Given the description of an element on the screen output the (x, y) to click on. 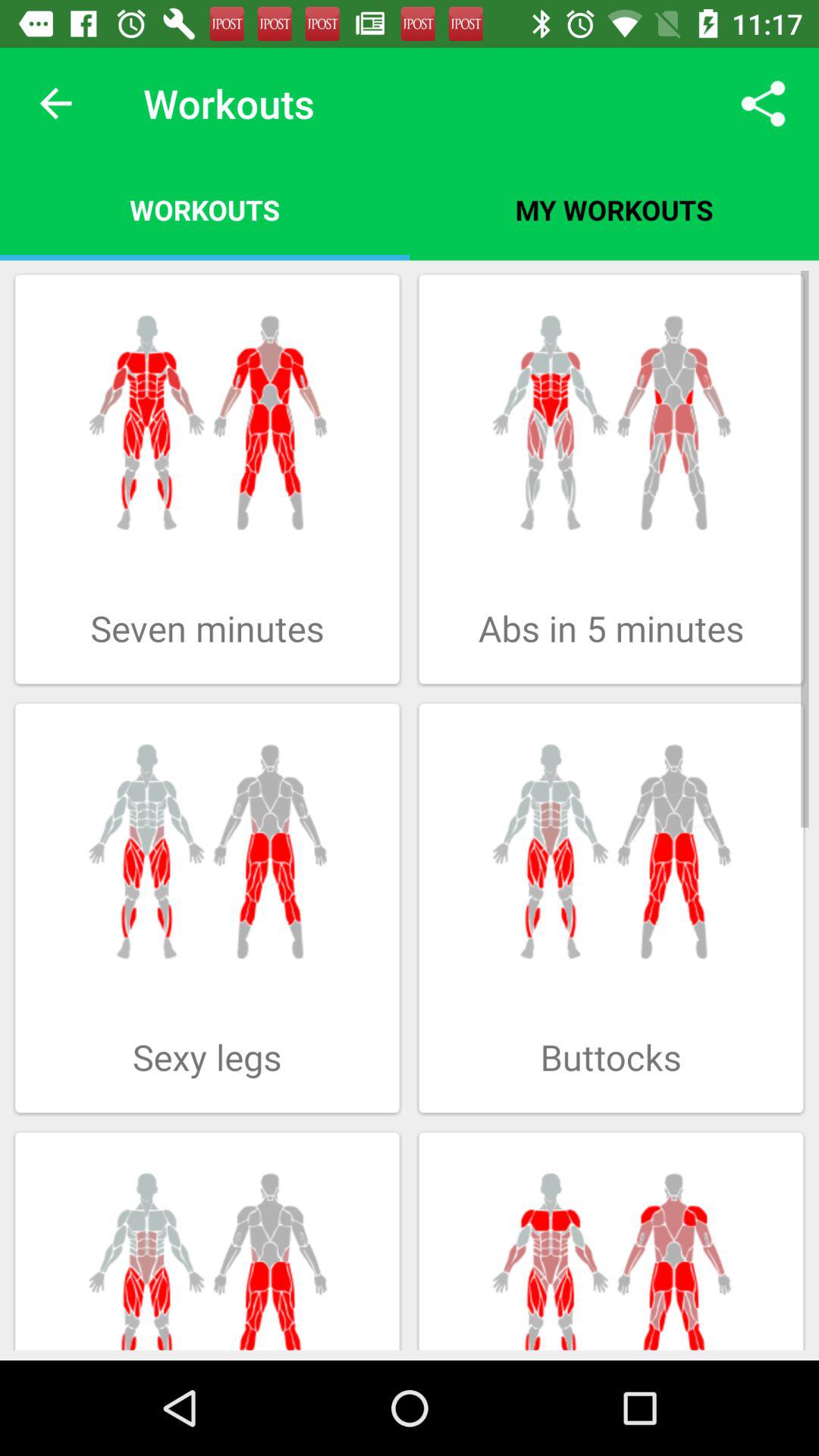
press icon to the right of workouts app (614, 209)
